Given the description of an element on the screen output the (x, y) to click on. 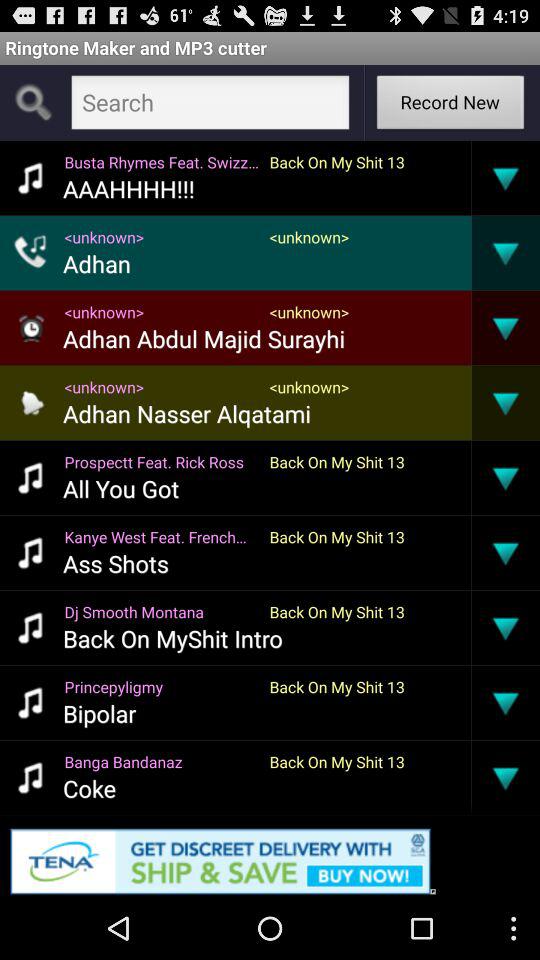
click the app to the right of <unknown> (471, 252)
